Given the description of an element on the screen output the (x, y) to click on. 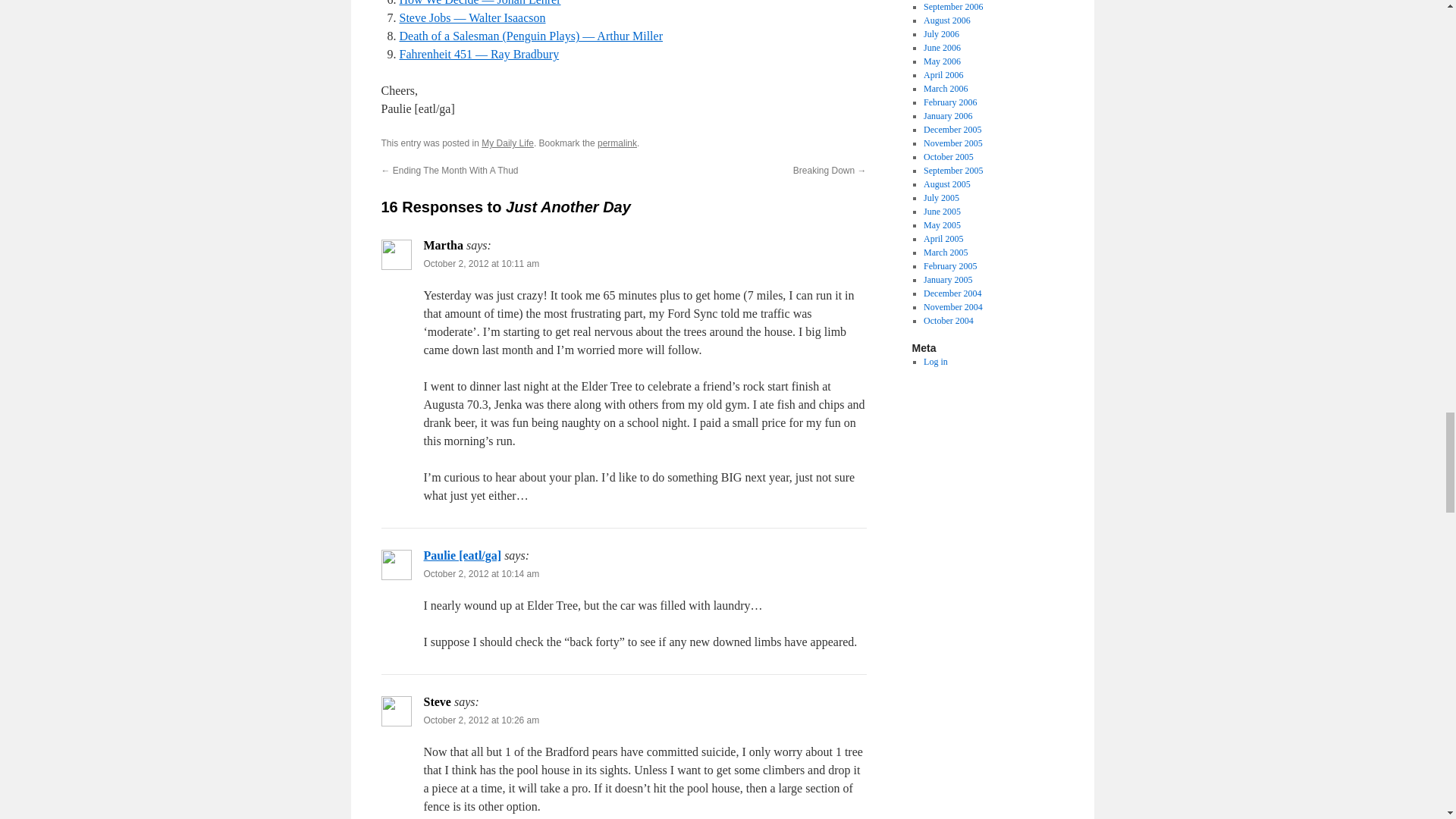
My Daily Life (507, 143)
permalink (616, 143)
October 2, 2012 at 10:26 am (480, 719)
October 2, 2012 at 10:11 am (480, 263)
October 2, 2012 at 10:14 am (480, 573)
Permalink to Just Another Day (616, 143)
